Given the description of an element on the screen output the (x, y) to click on. 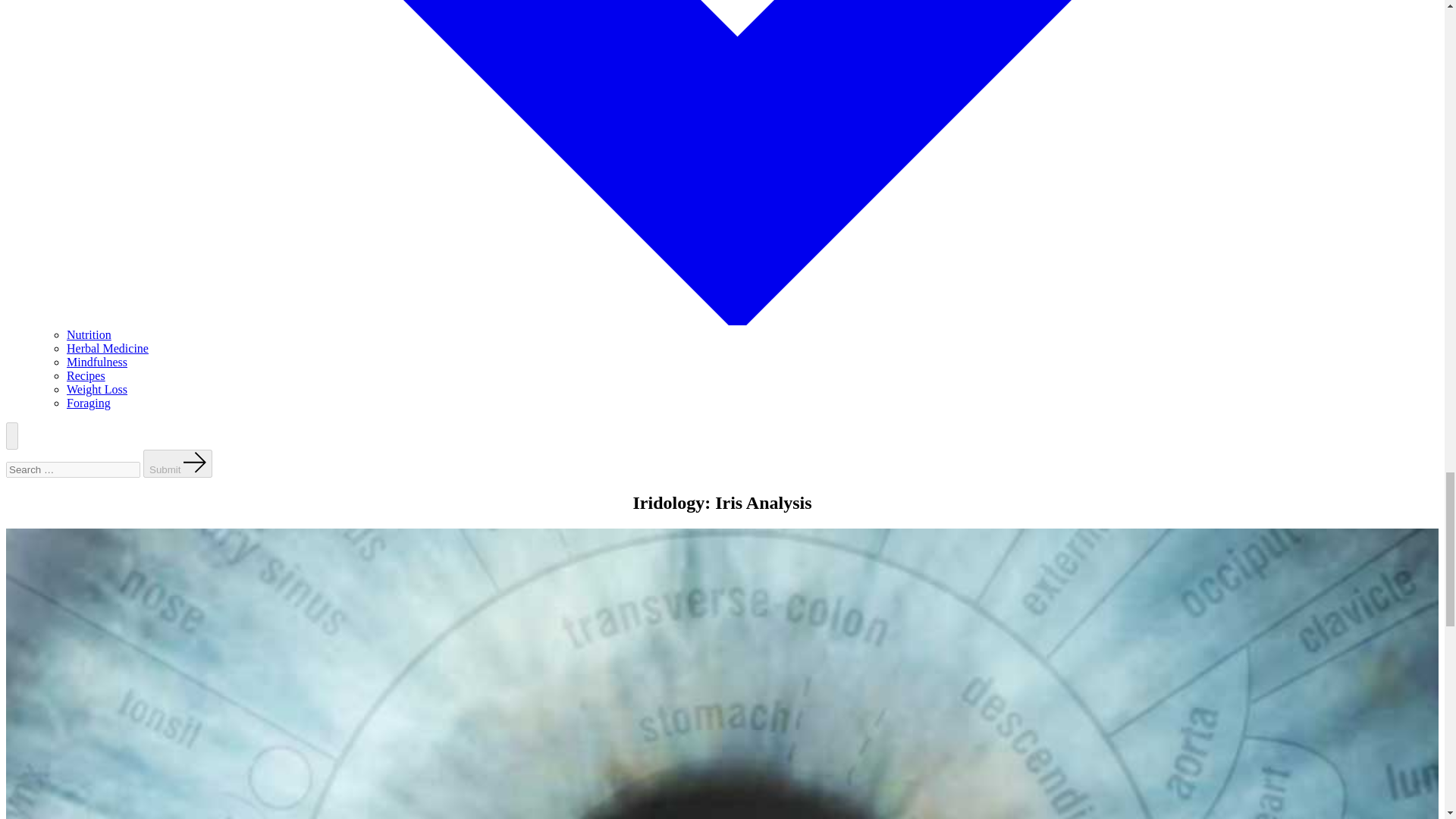
Herbal Medicine (107, 348)
Nutrition (89, 334)
Foraging  (88, 402)
Weight Loss (97, 389)
Recipes (85, 375)
Mindfulness (97, 361)
Submit (177, 463)
Foraging (88, 402)
Recipes (85, 375)
